Given the description of an element on the screen output the (x, y) to click on. 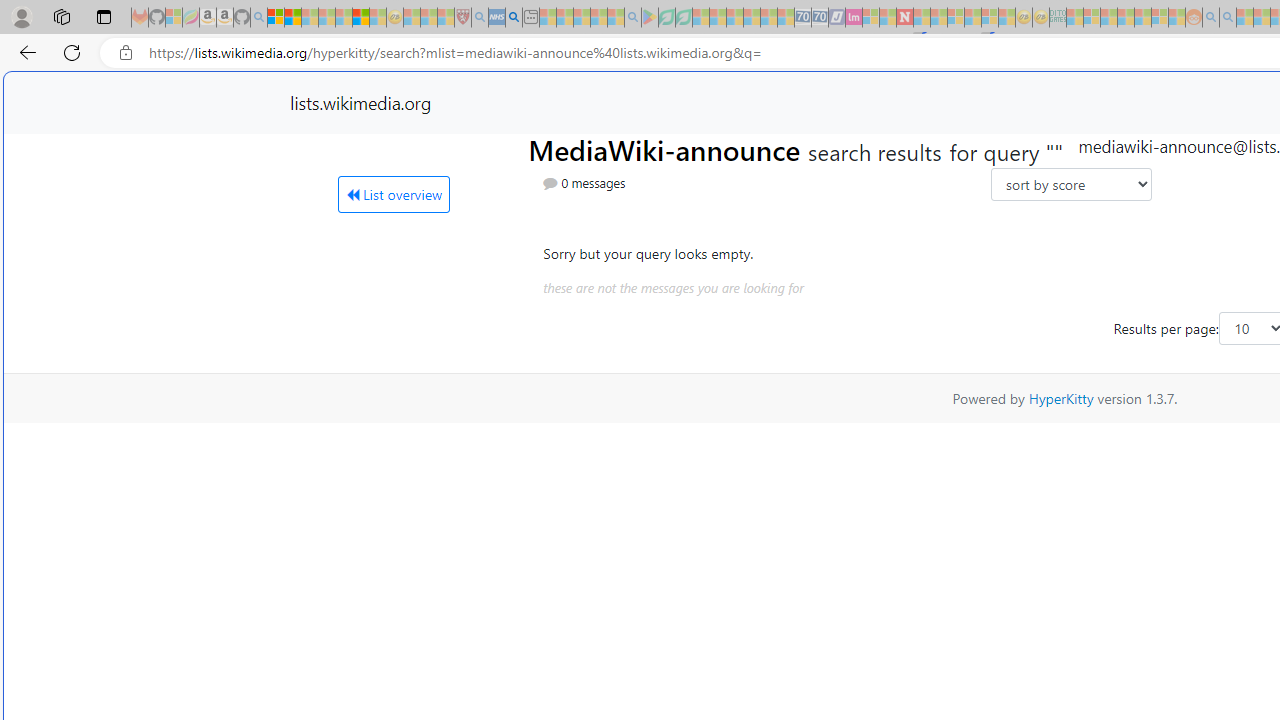
google - Search - Sleeping (632, 17)
HyperKitty (1060, 398)
